Given the description of an element on the screen output the (x, y) to click on. 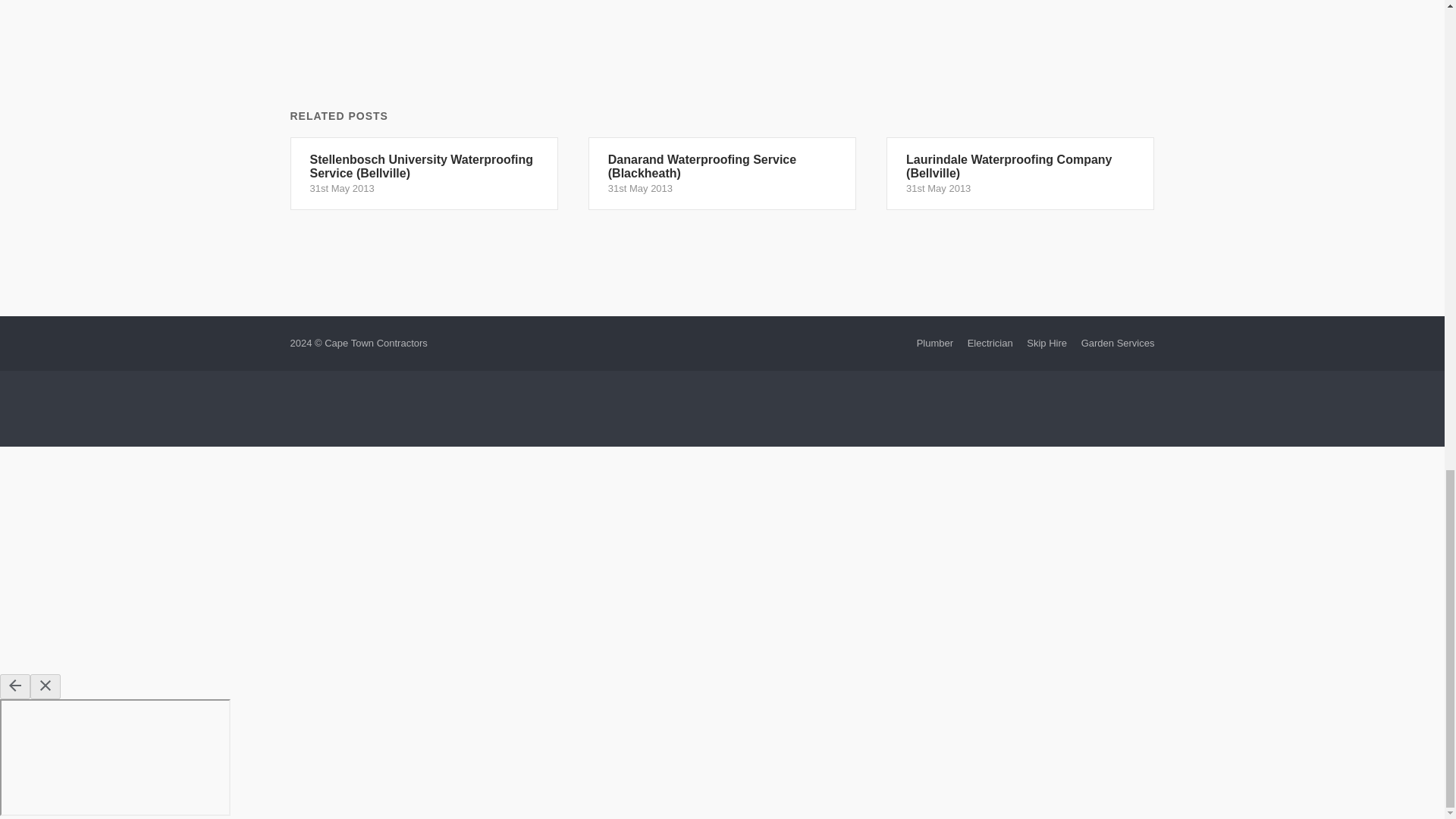
Plumber (935, 342)
Electrician (990, 342)
Advertisement (721, 51)
Skip Hire (1046, 342)
Advertisement (721, 412)
Garden Services (1117, 342)
